Given the description of an element on the screen output the (x, y) to click on. 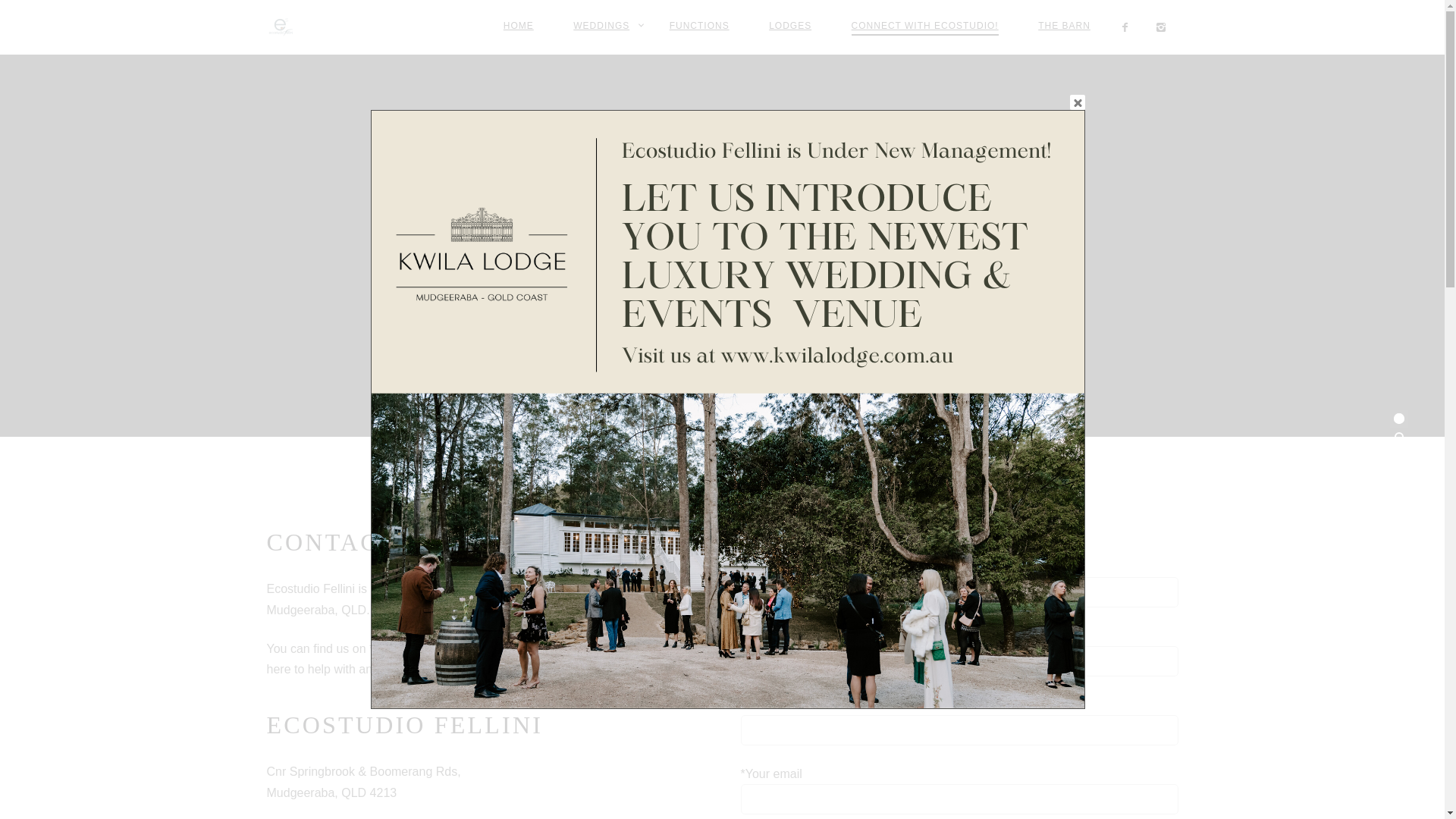
WEDDINGS Element type: text (601, 26)
FUNCTIONS Element type: text (699, 26)
Close Element type: hover (1077, 101)
CONNECT WITH ECOSTUDIO! Element type: text (924, 26)
Ecostudio Fellini Element type: hover (283, 27)
LODGES Element type: text (789, 26)
THE BARN Element type: text (1063, 26)
HOME Element type: text (518, 26)
